Given the description of an element on the screen output the (x, y) to click on. 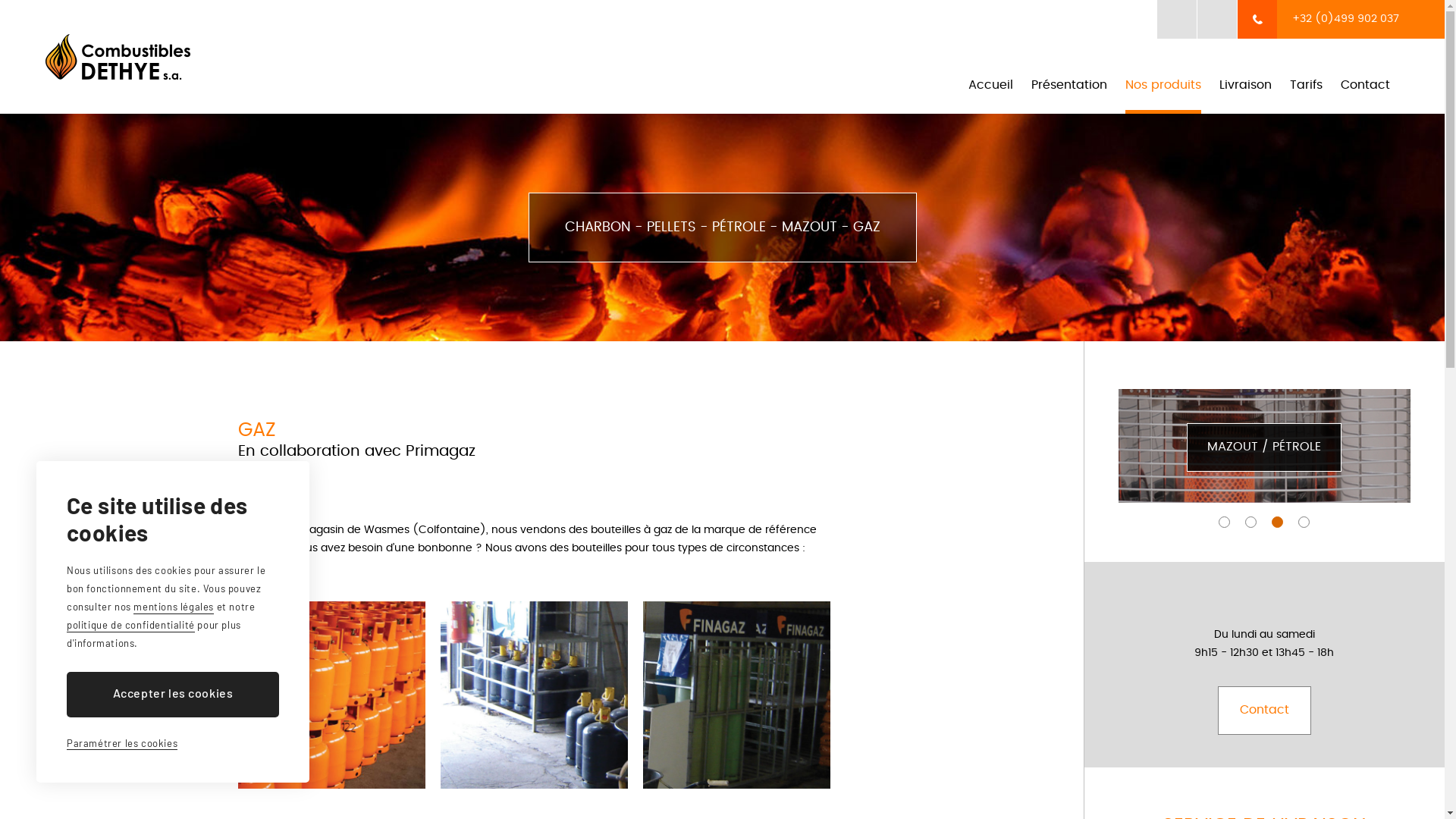
Tarifs Element type: text (1305, 90)
Gaz Element type: hover (736, 694)
+32 (0)499 902 037 Element type: text (1340, 19)
Gaz Element type: hover (331, 694)
Accueil Element type: text (990, 90)
Livraison Element type: text (1245, 90)
Next Element type: text (1427, 440)
4 Element type: text (1303, 521)
2 Element type: text (1250, 521)
Facebook Element type: text (1216, 19)
3 Element type: text (1277, 521)
Gaz Element type: hover (533, 694)
1 Element type: text (1224, 521)
dethye.contact@gmail.com Element type: text (1176, 19)
Dethye Element type: hover (117, 56)
GAZ Element type: text (865, 227)
CHARBON Element type: text (597, 227)
PELLETS Element type: text (1264, 445)
MAZOUT Element type: text (808, 227)
Nos produits Element type: text (1163, 90)
Contact Element type: text (1264, 710)
Contact Element type: text (1365, 90)
Previous Element type: text (1101, 440)
PELLETS Element type: text (1264, 447)
PELLETS Element type: text (670, 227)
